Given the description of an element on the screen output the (x, y) to click on. 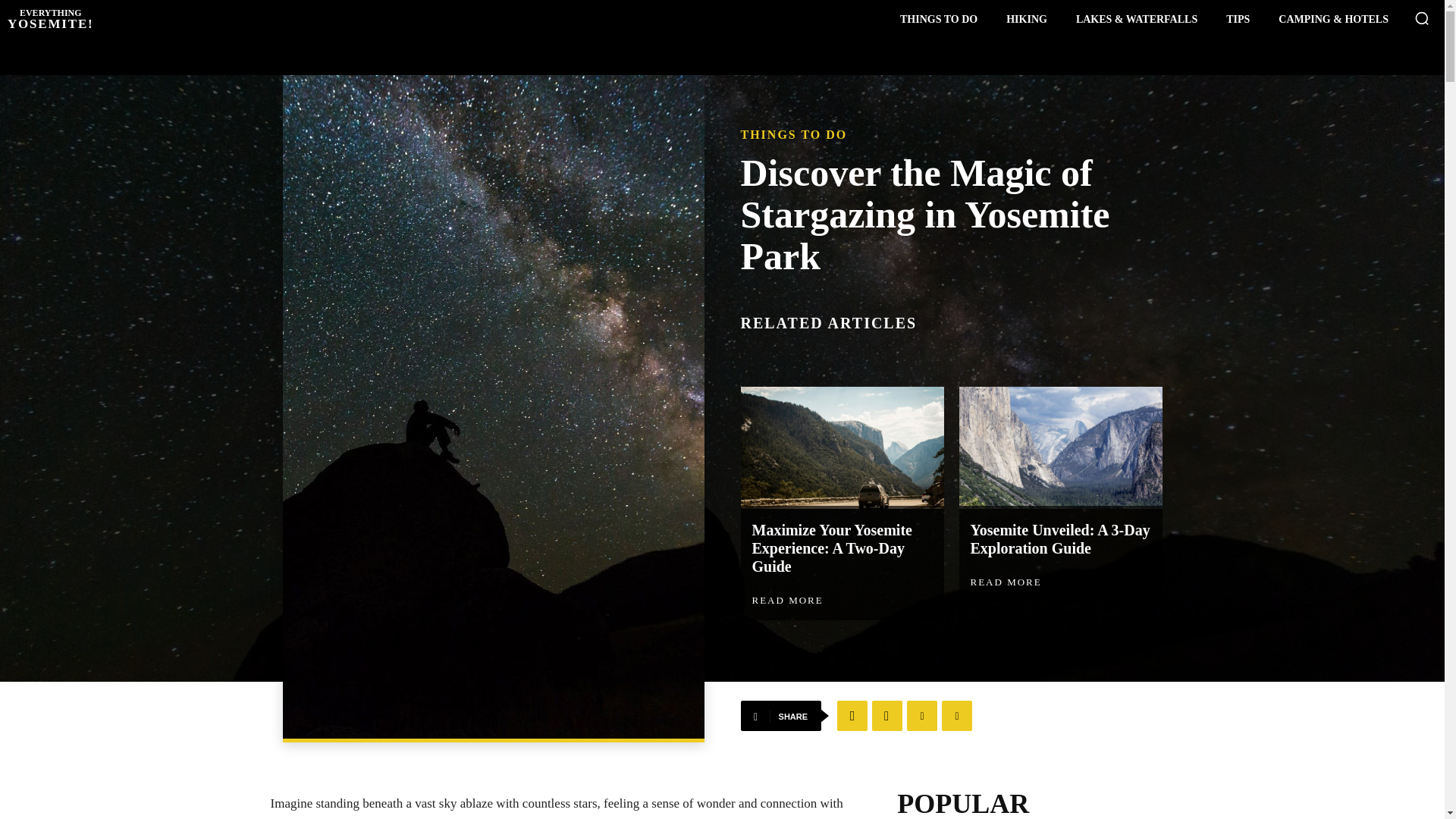
THINGS TO DO (793, 134)
Maximize Your Yosemite Experience: A Two-Day Guide (832, 547)
Yosemite Unveiled: A 3-Day Exploration Guide (1060, 538)
TIPS (50, 19)
Yosemite Unveiled: A 3-Day Exploration Guide (1237, 19)
Maximize Your Yosemite Experience: A Two-Day Guide (1060, 538)
HIKING (832, 547)
Yosemite Unveiled: A 3-Day Exploration Guide (1026, 19)
READ MORE (1059, 447)
Copy URL (1006, 582)
Twitter (887, 716)
Facebook (957, 716)
WhatsApp (922, 716)
THINGS TO DO (852, 716)
